Given the description of an element on the screen output the (x, y) to click on. 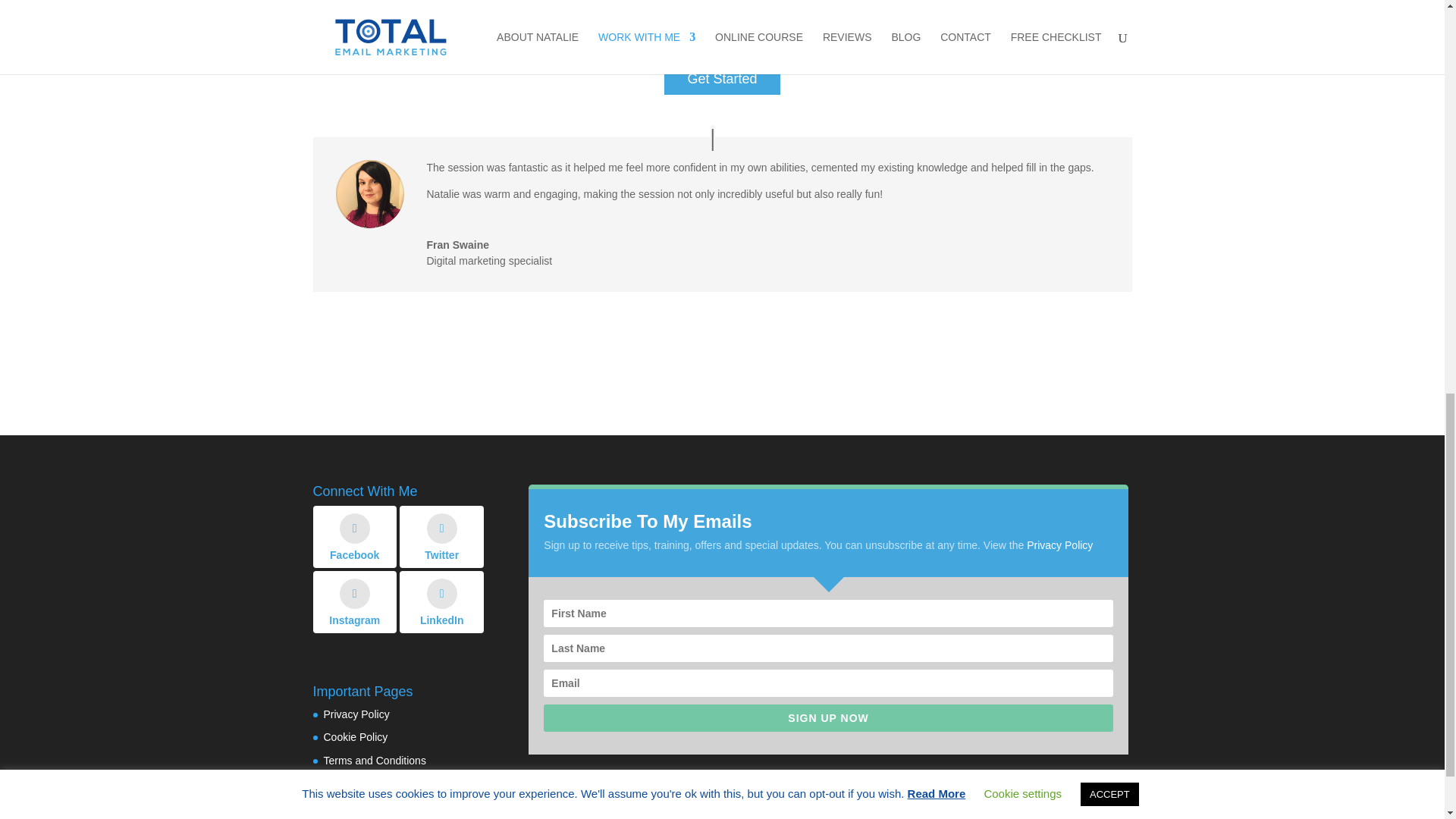
Facebook (354, 537)
Instagram (354, 601)
Cookie Policy (355, 736)
Affiliate Statement (366, 784)
Get Started (721, 79)
LinkedIn (440, 601)
Terms and Conditions (374, 760)
Twitter (440, 537)
Privacy Policy (355, 714)
